Given the description of an element on the screen output the (x, y) to click on. 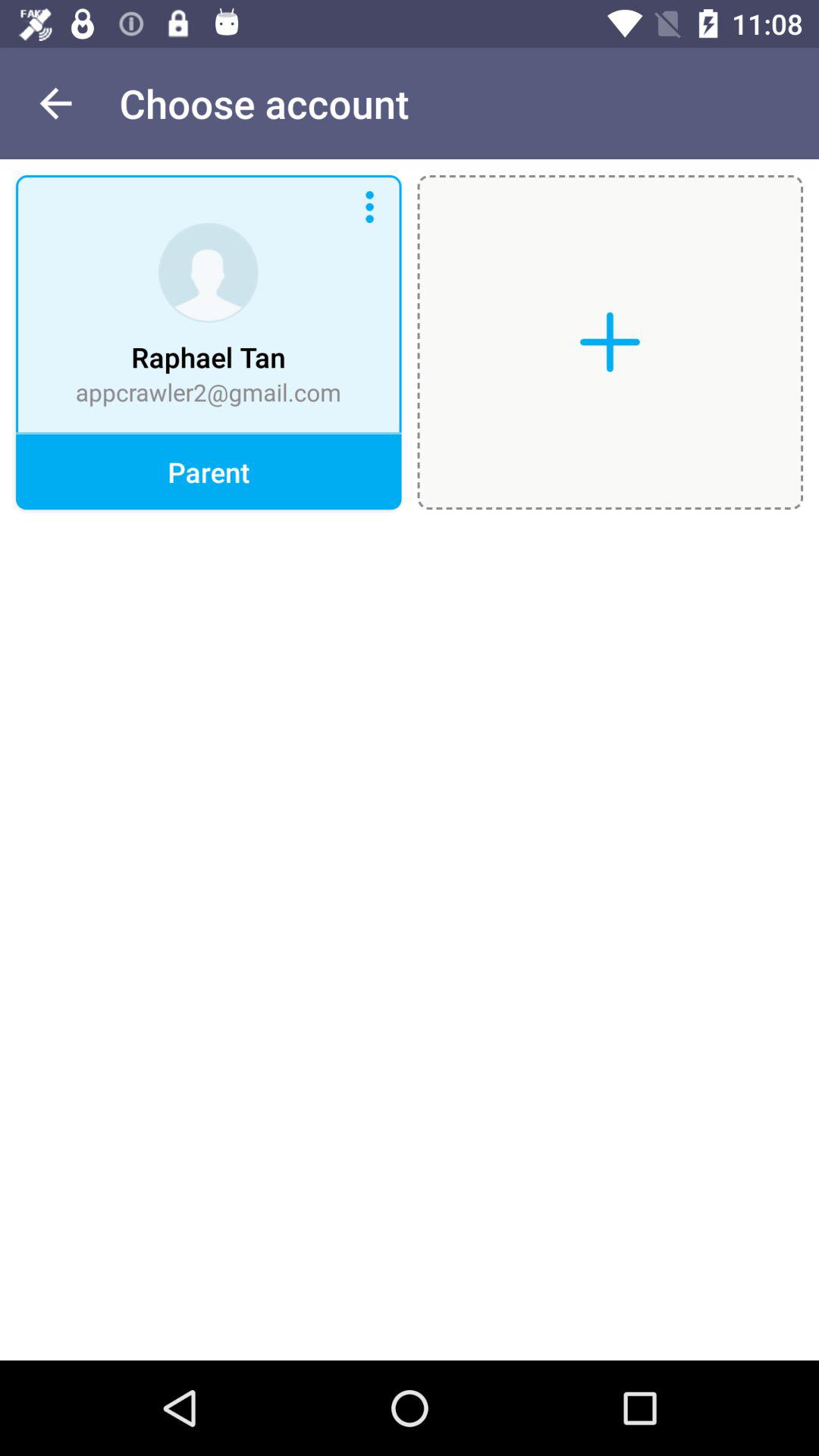
choose the item next to the choose account item (55, 103)
